Given the description of an element on the screen output the (x, y) to click on. 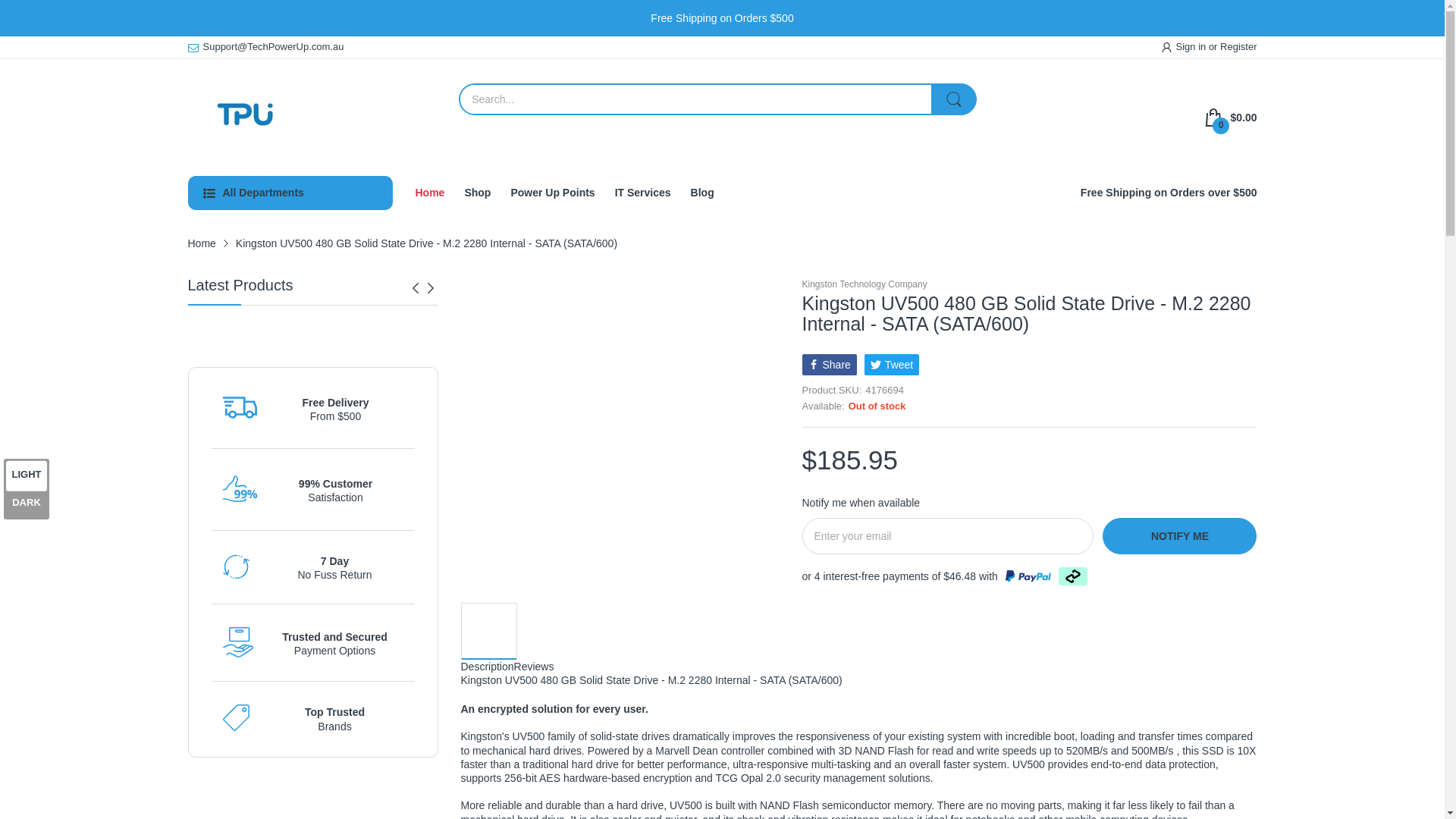
Kingston Technology Company (864, 285)
Facebook (829, 364)
Share (829, 364)
NOTIFY ME (1179, 535)
electro-track-order-icon (239, 407)
Sign in (1192, 46)
Home (201, 243)
electro-return-icon (235, 566)
Register (1238, 46)
Tweet (891, 364)
